Given the description of an element on the screen output the (x, y) to click on. 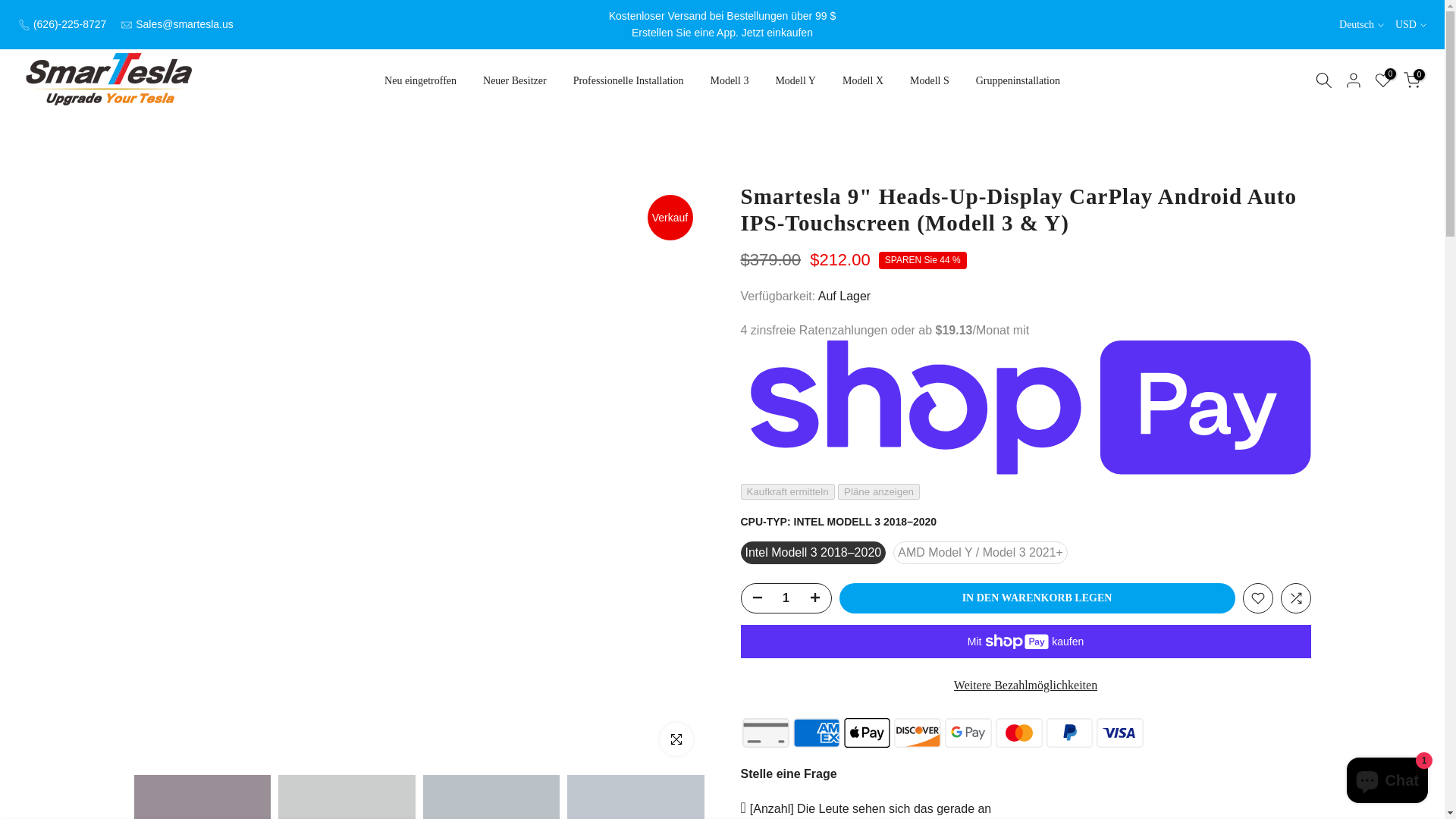
USD (1410, 24)
Onlineshop-Chat von Shopify (1387, 781)
Deutsch (1361, 24)
Alle Sammlungen (776, 32)
1 (786, 597)
Zum Inhalt springen (10, 7)
Jetzt einkaufen (776, 32)
